Given the description of an element on the screen output the (x, y) to click on. 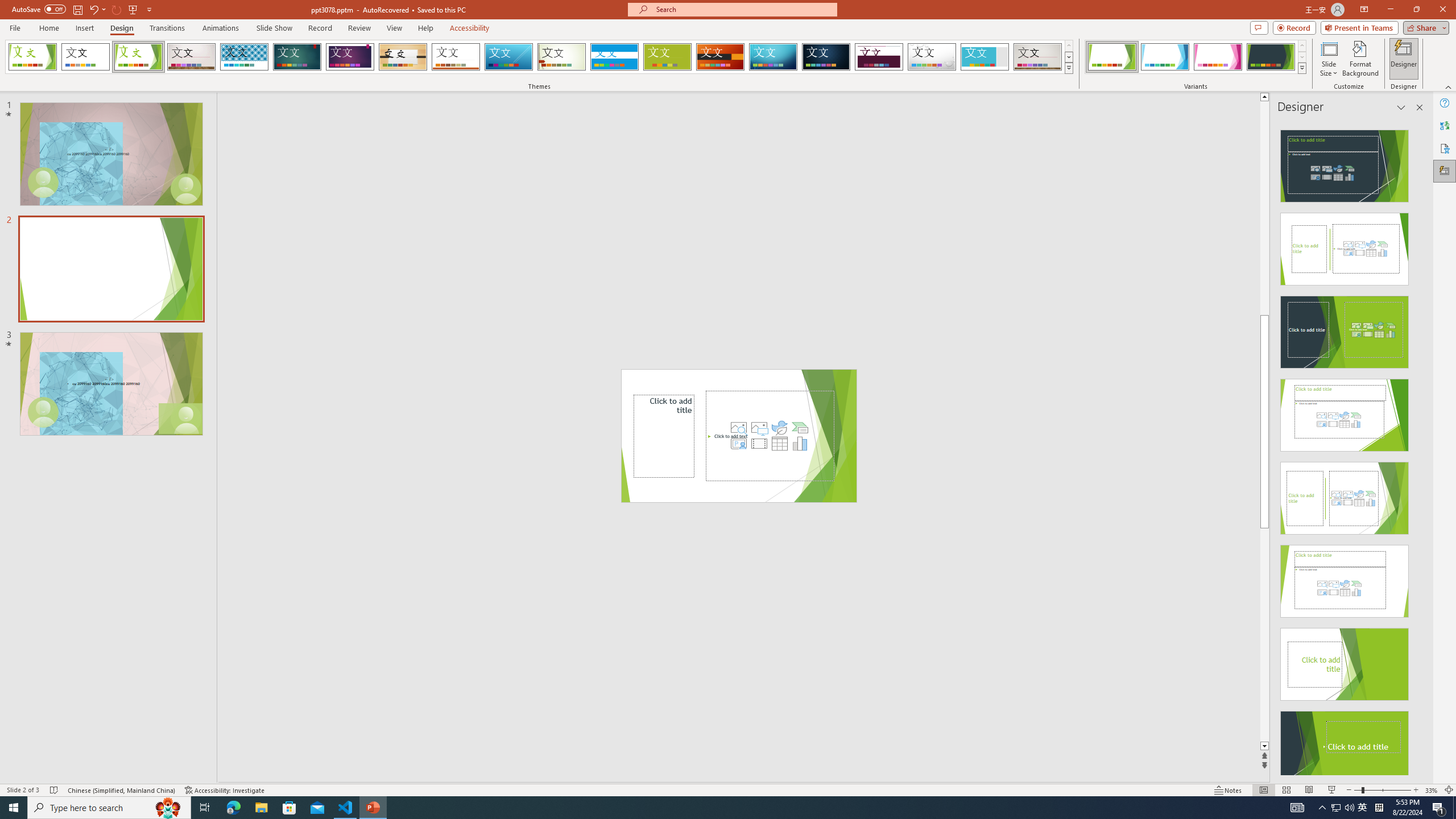
Insert Cameo (738, 443)
Facet (138, 56)
Banded (614, 56)
Title TextBox (663, 435)
Insert Video (758, 443)
Content Placeholder (770, 435)
Droplet (931, 56)
Insert a SmartArt Graphic (799, 427)
Gallery (1037, 56)
Frame (984, 56)
